Given the description of an element on the screen output the (x, y) to click on. 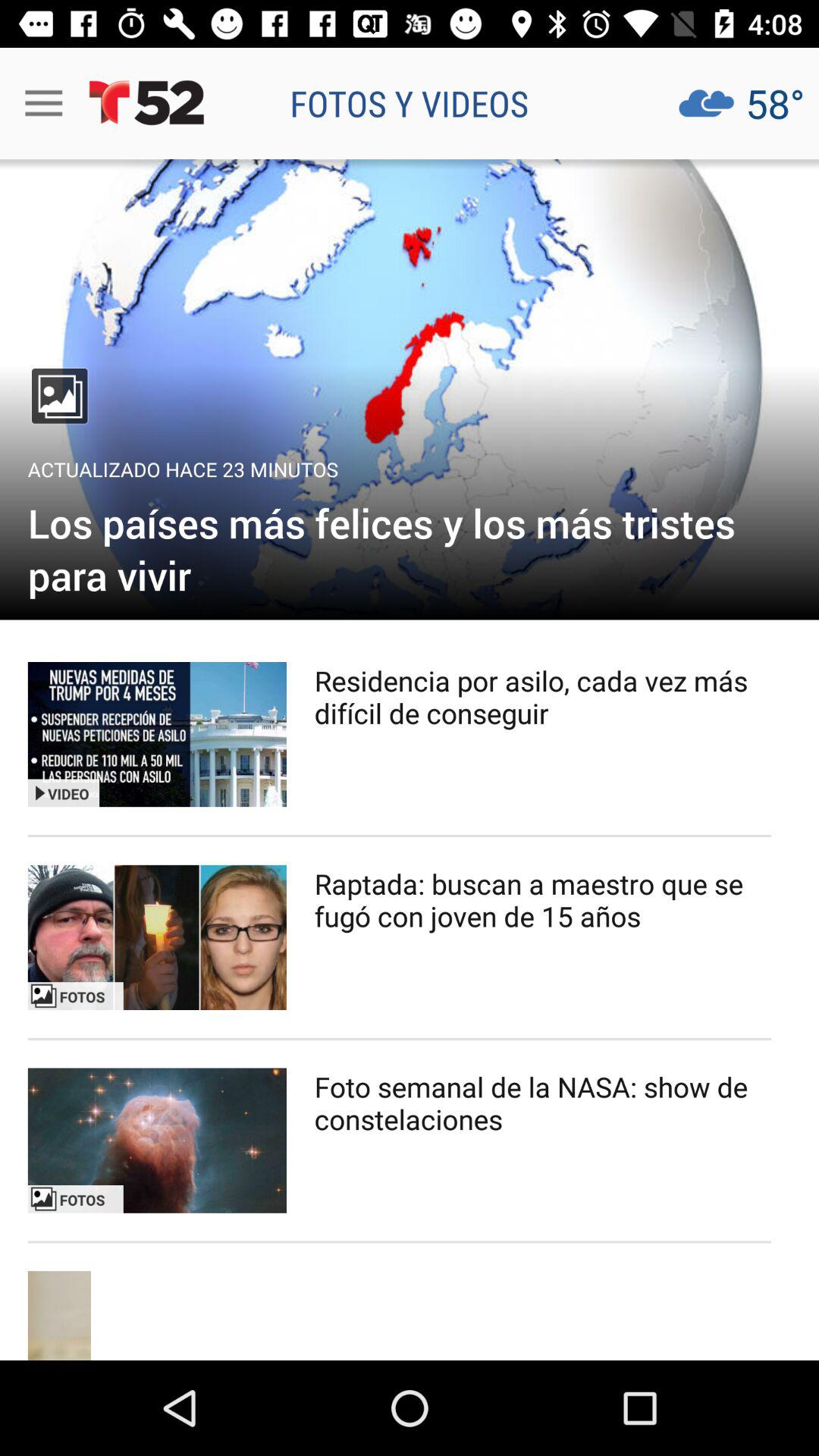
watch video (156, 1140)
